Given the description of an element on the screen output the (x, y) to click on. 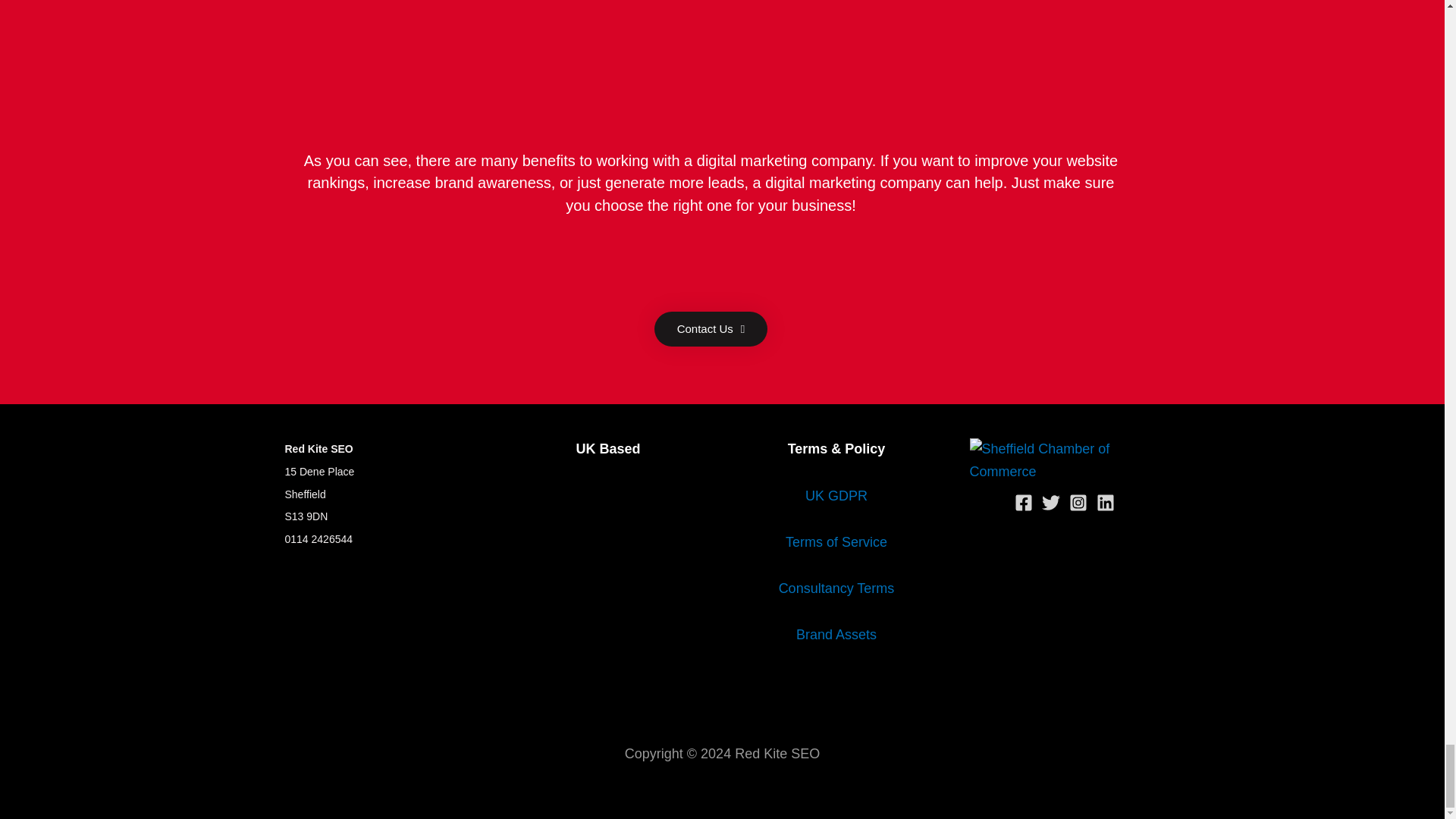
Monthly SEO Services (836, 541)
Monthly SEO Services (836, 588)
Red Kite SEO Branding (836, 634)
Red Kite SEO UK GDPR Cookie policy (836, 495)
